Given the description of an element on the screen output the (x, y) to click on. 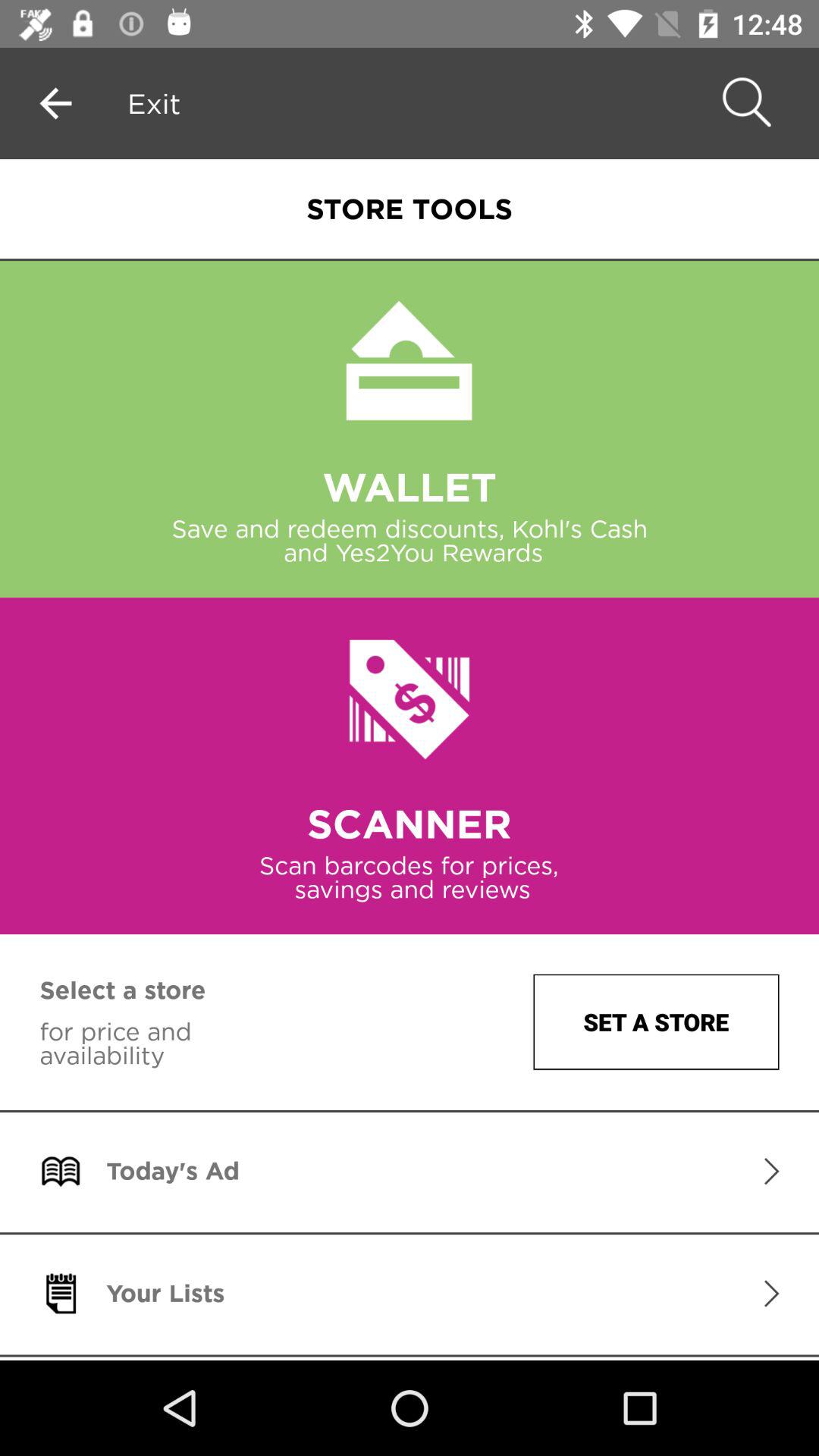
tap icon to the left of store tools icon (153, 103)
